Given the description of an element on the screen output the (x, y) to click on. 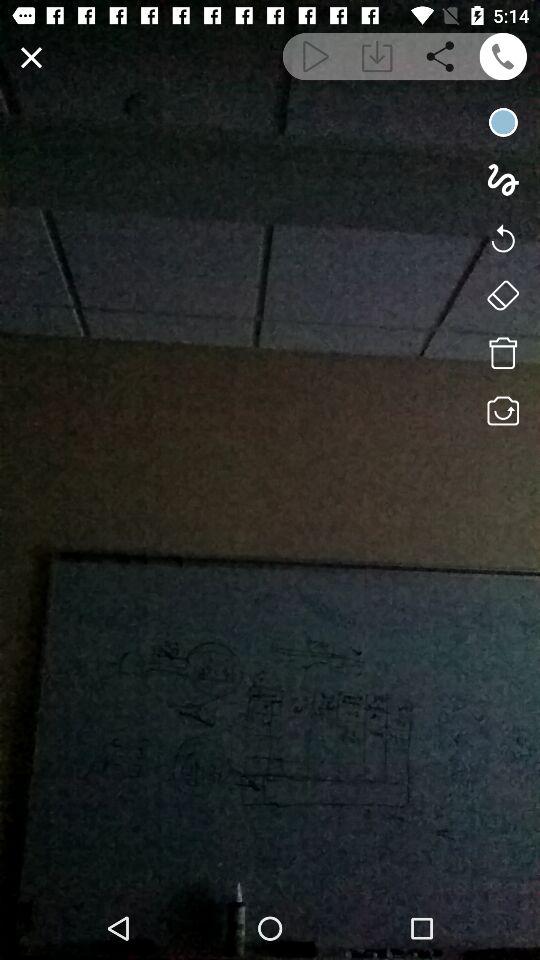
playback video (313, 56)
